Given the description of an element on the screen output the (x, y) to click on. 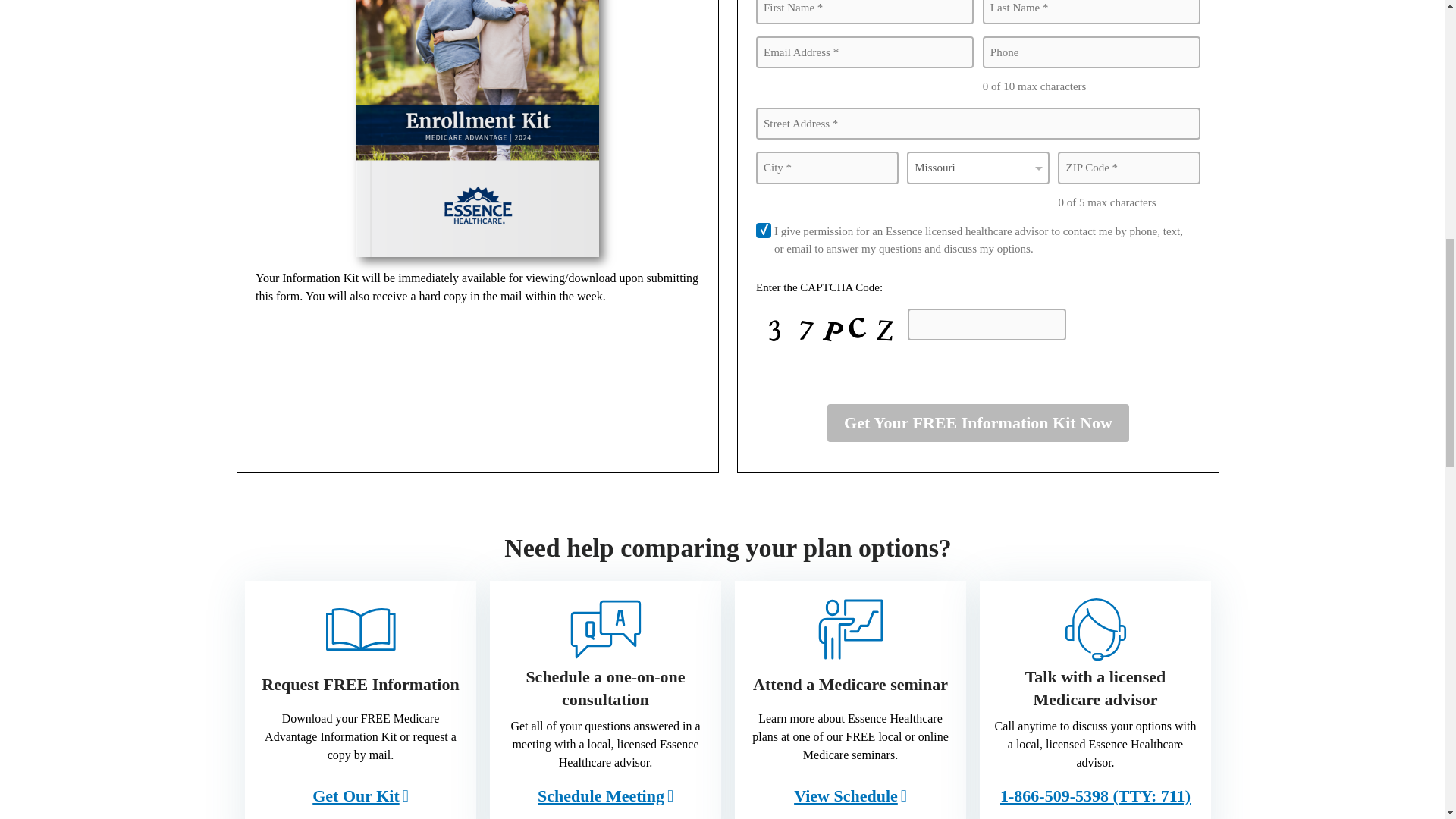
Get Your FREE Information Kit Now (978, 423)
1 (763, 230)
